Given the description of an element on the screen output the (x, y) to click on. 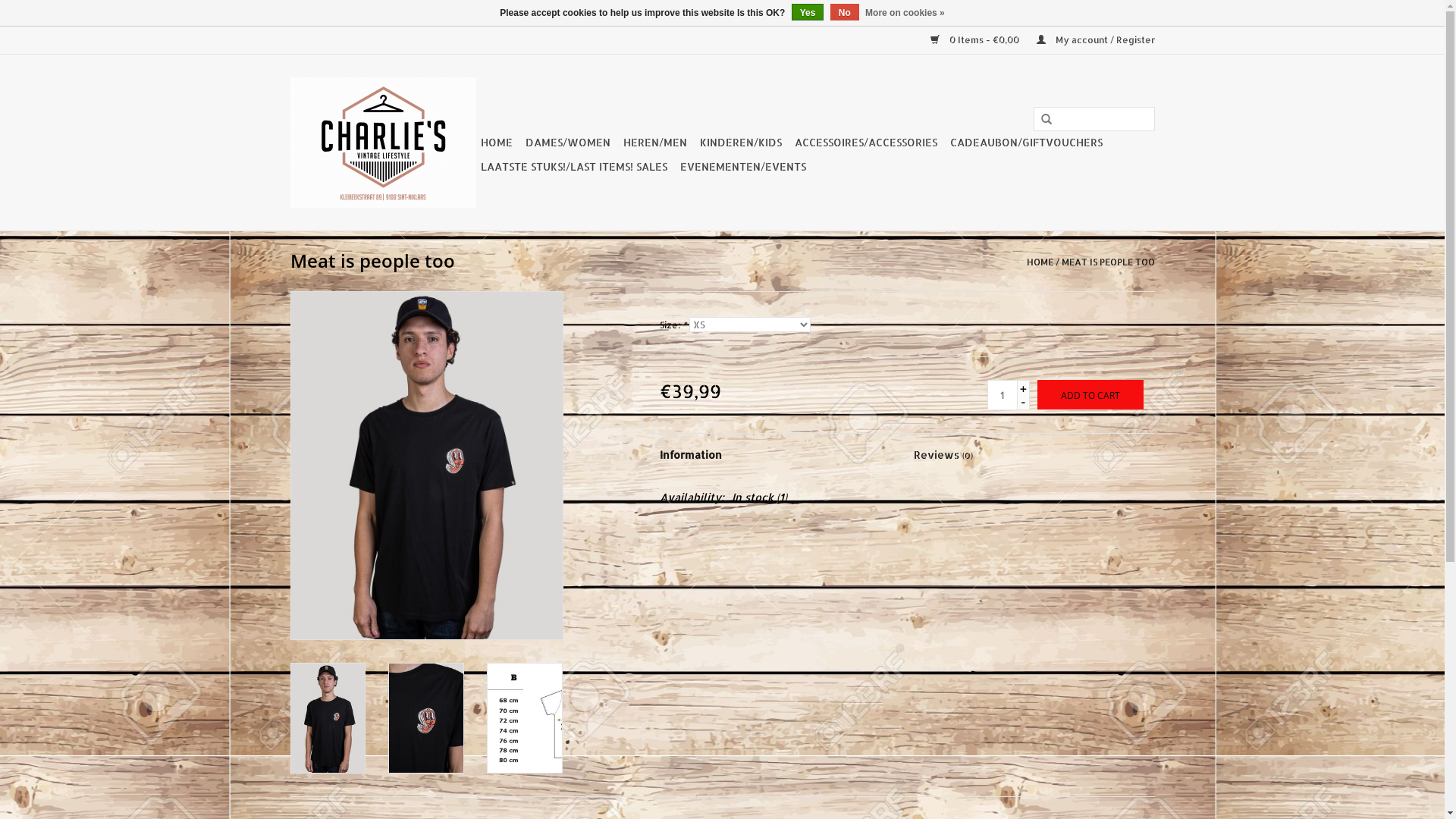
HOME Element type: text (1039, 261)
HEREN/MEN Element type: text (654, 142)
My account / Register Element type: text (1087, 39)
EVENEMENTEN/EVENTS Element type: text (741, 166)
The Dudes Meat is people too Element type: hover (426, 717)
LAATSTE STUKS!/LAST ITEMS! SALES Element type: text (573, 166)
KINDEREN/KIDS Element type: text (739, 142)
The Dudes Meat is people too Element type: hover (328, 717)
Search Element type: hover (1045, 118)
Reviews (0) Element type: text (1027, 454)
ADD TO CART Element type: text (1090, 394)
DAMES/WOMEN Element type: text (567, 142)
- Element type: text (1023, 400)
HOME Element type: text (496, 142)
Information Element type: text (774, 454)
Yes Element type: text (807, 11)
ACCESSOIRES/ACCESSORIES Element type: text (865, 142)
CADEAUBON/GIFTVOUCHERS Element type: text (1025, 142)
No Element type: text (844, 11)
Charlies-Clothing Element type: hover (382, 142)
MEAT IS PEOPLE TOO Element type: text (1107, 261)
+ Element type: text (1023, 387)
The Dudes Meat is people too Element type: hover (524, 717)
